Given the description of an element on the screen output the (x, y) to click on. 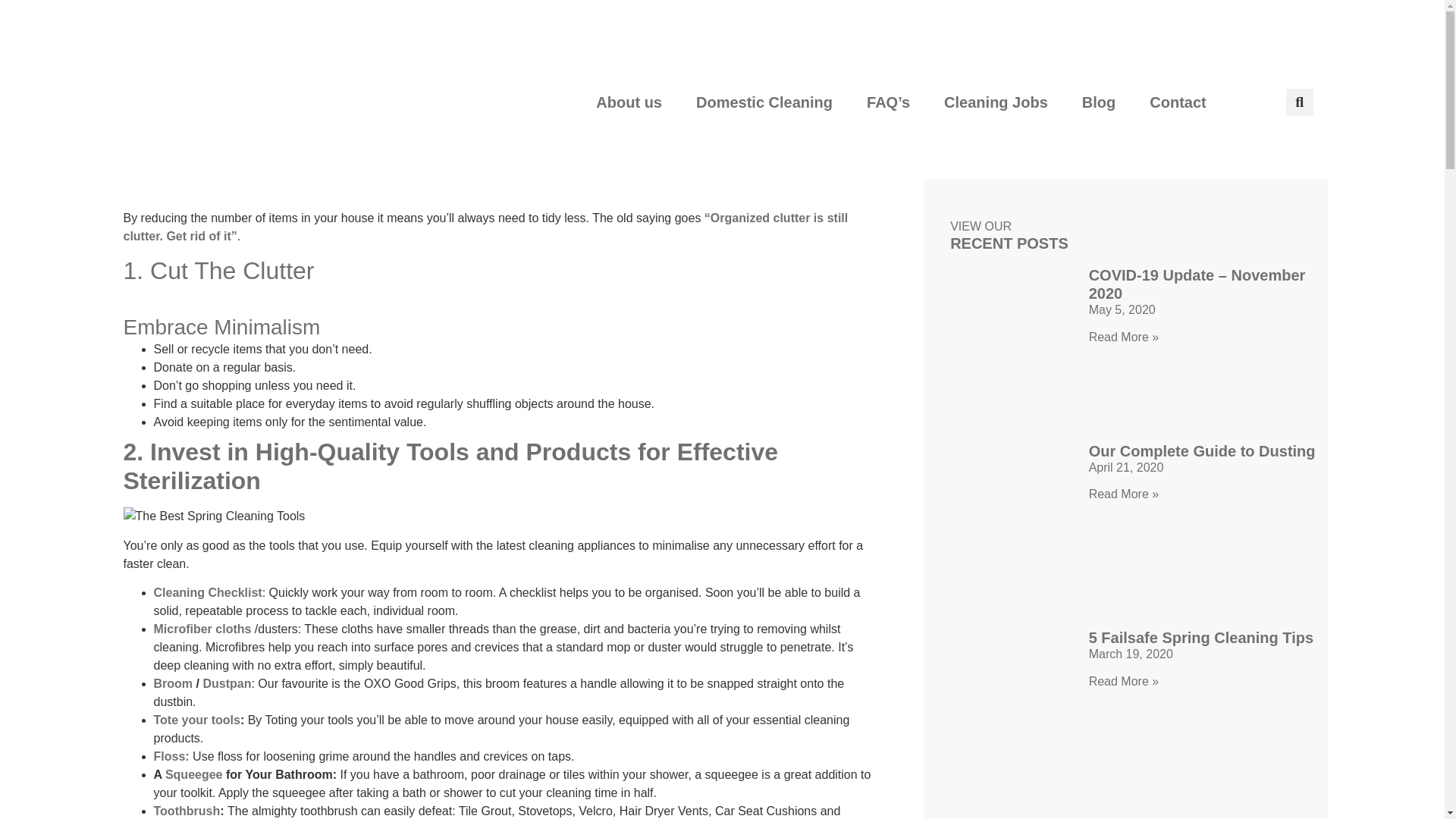
Squeegee (193, 774)
Domestic Cleaning (764, 102)
Contact (1177, 102)
Dustpan (226, 683)
About us (628, 102)
Tote your tools (196, 719)
Microfiber cloths (201, 628)
Toothbrush (185, 810)
October 11, 2017 (178, 162)
Cleaning Checklist (207, 592)
